Given the description of an element on the screen output the (x, y) to click on. 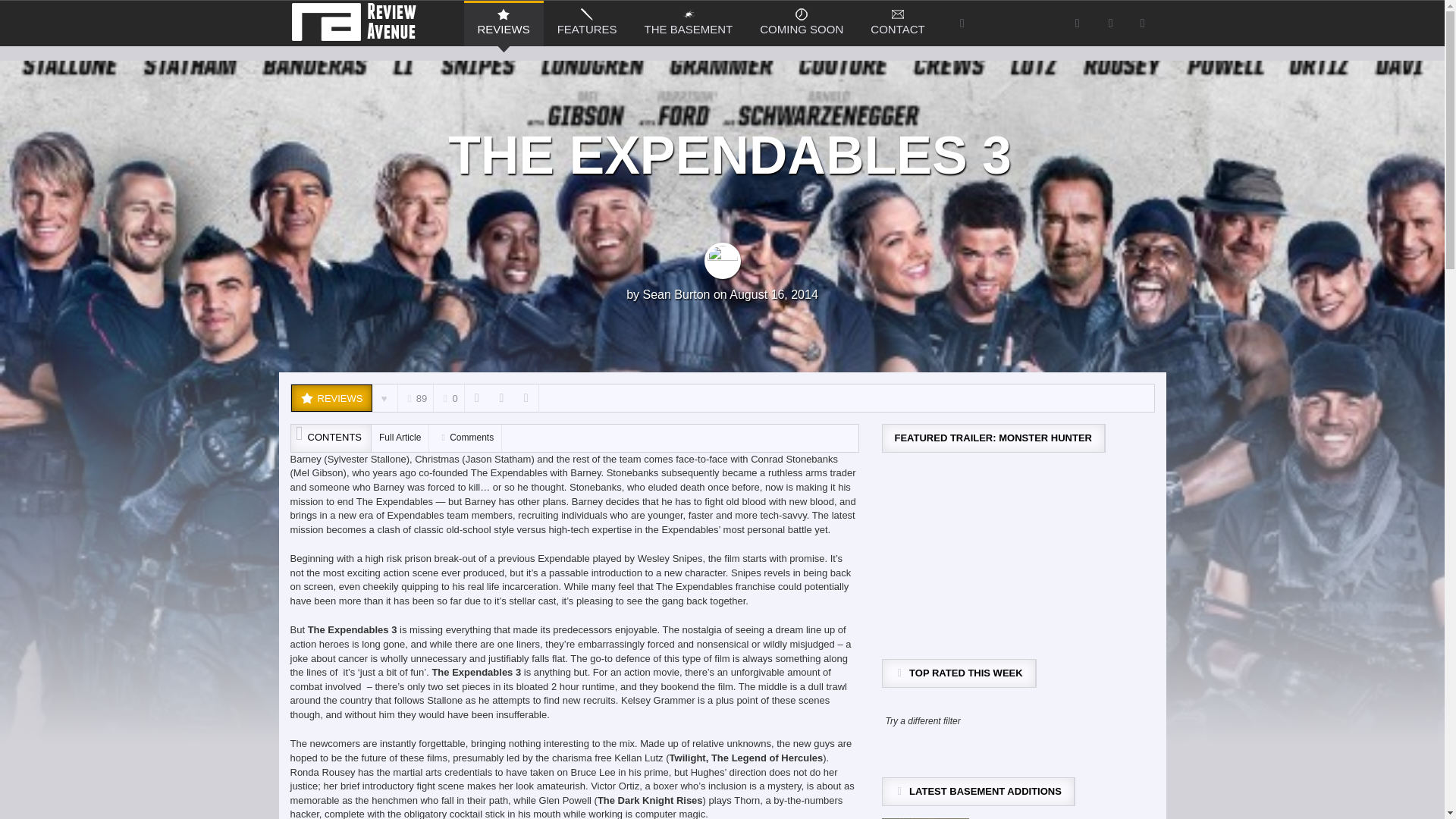
Home (357, 20)
